Given the description of an element on the screen output the (x, y) to click on. 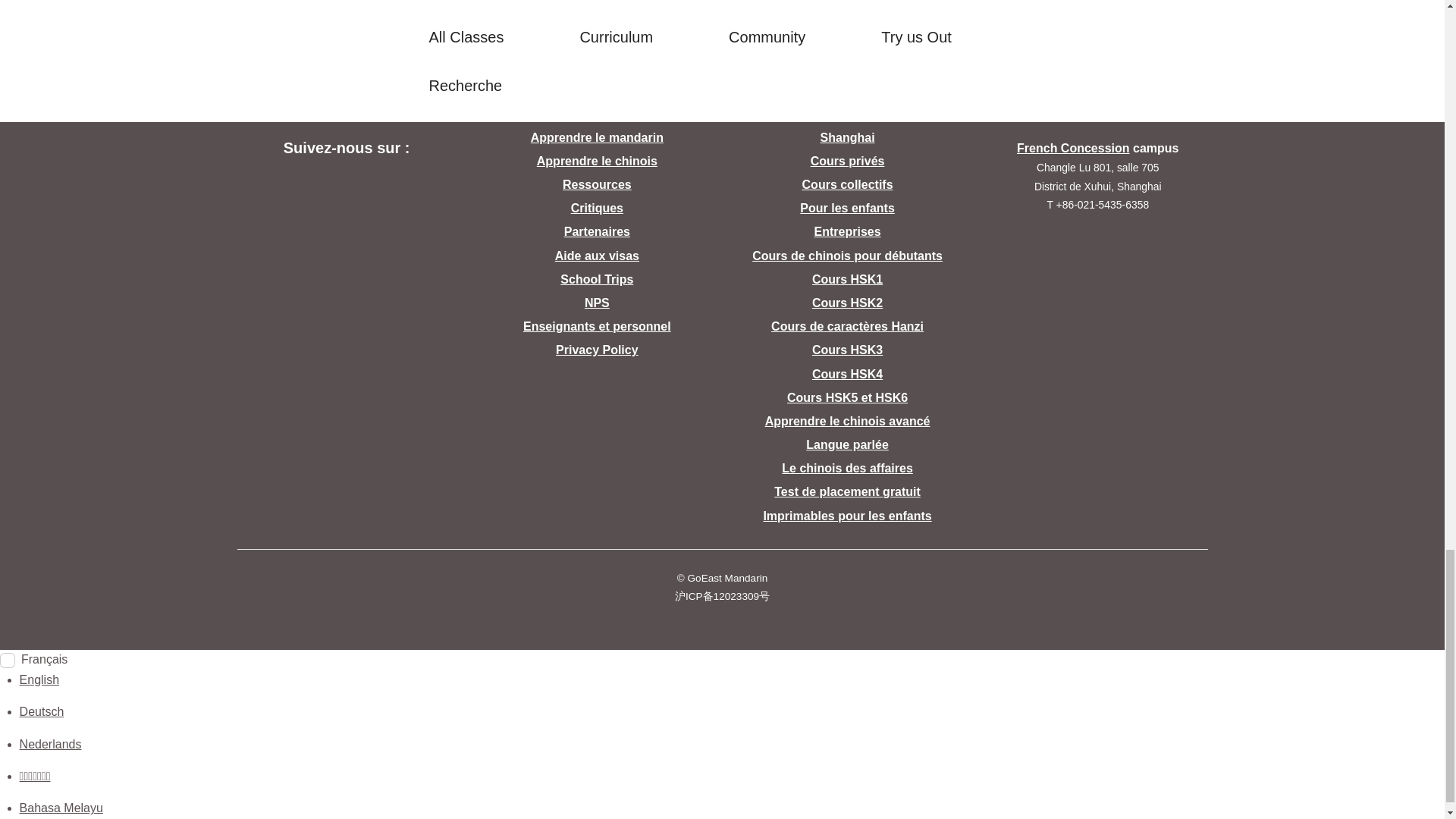
Language switcher : Dutch (50, 744)
Language switcher : Malay (61, 807)
Language switcher : German (42, 711)
Language switcher : English (39, 679)
on (7, 660)
Language switcher : Thai (35, 775)
